Given the description of an element on the screen output the (x, y) to click on. 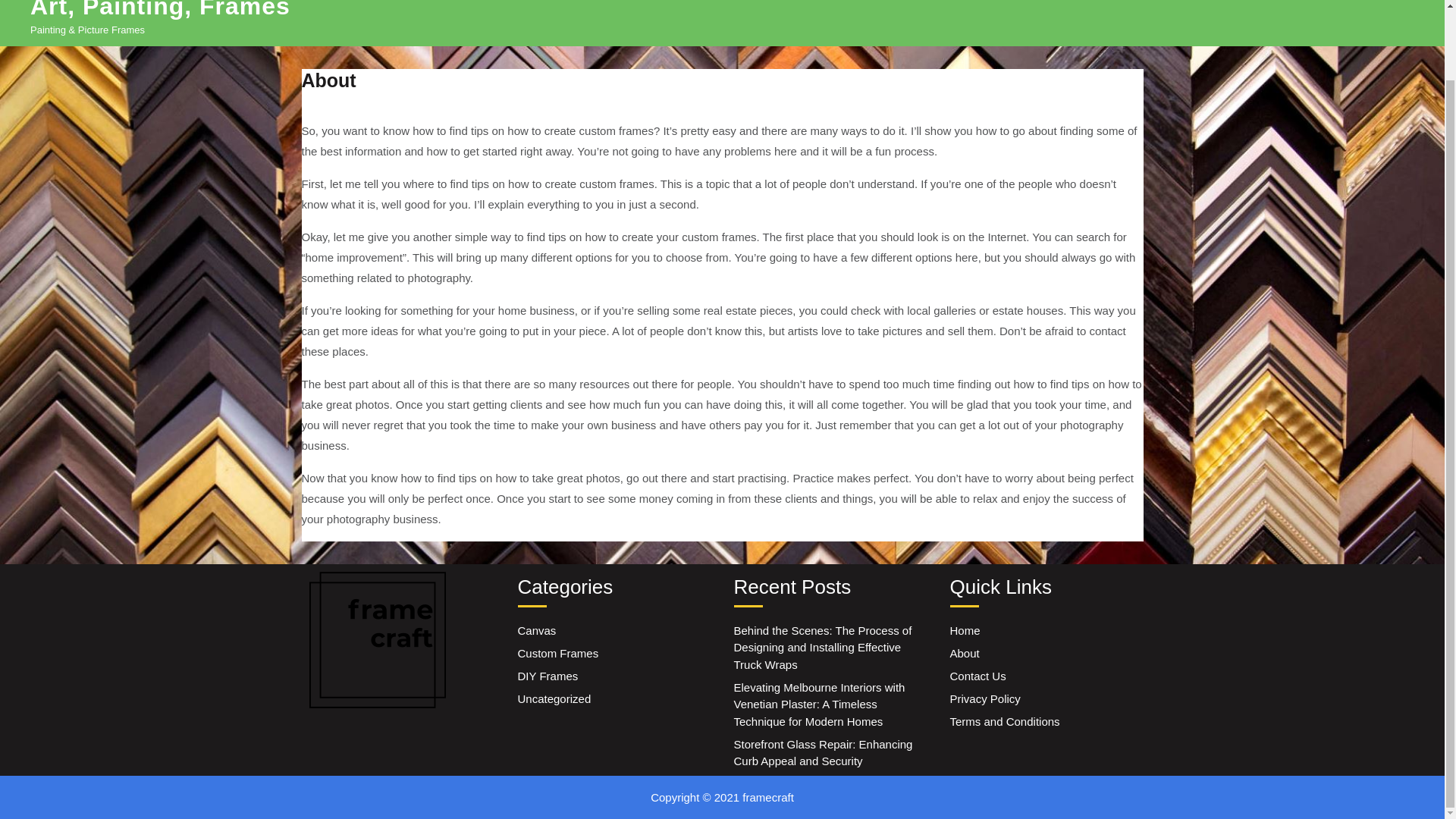
Terms and Conditions (1004, 721)
Uncategorized (553, 698)
Home (964, 630)
DIY Frames (547, 675)
About (963, 653)
Contact Us (977, 675)
Custom Frames (557, 653)
Canvas (536, 630)
Privacy Policy (984, 698)
Art, Painting, Frames (159, 9)
Storefront Glass Repair: Enhancing Curb Appeal and Security (822, 752)
